Given the description of an element on the screen output the (x, y) to click on. 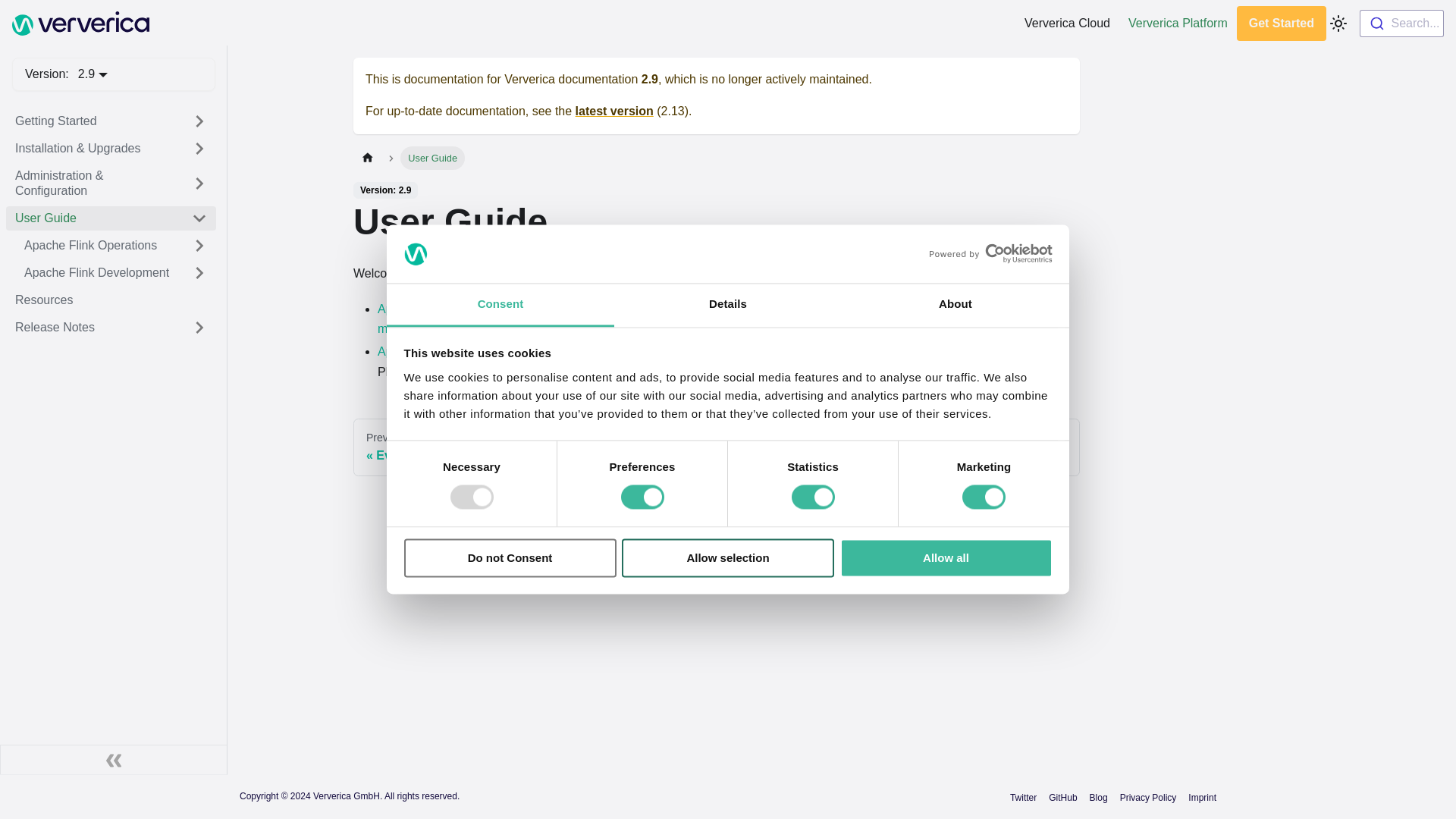
About (954, 304)
Consent (500, 304)
Details (727, 304)
